Given the description of an element on the screen output the (x, y) to click on. 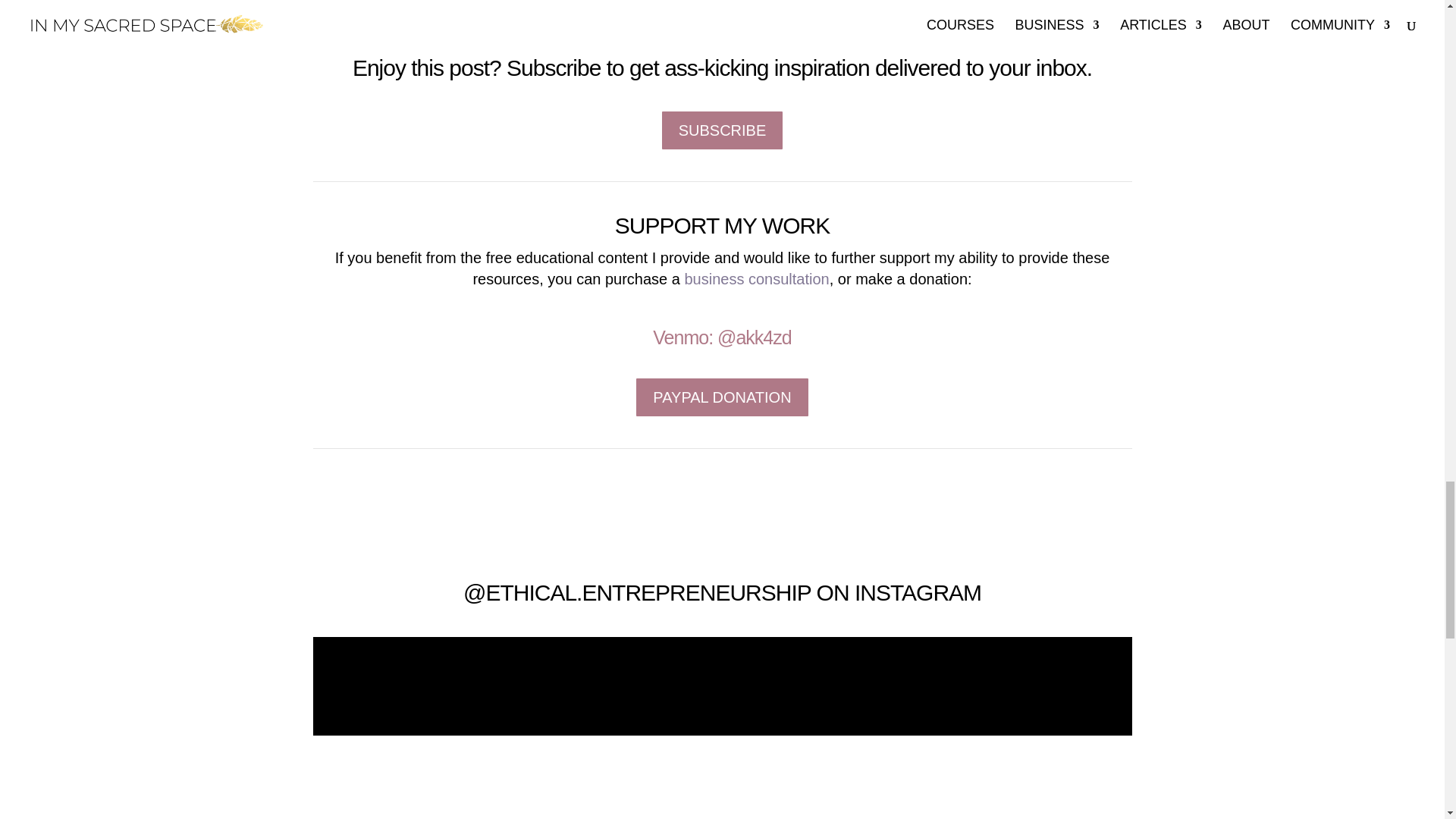
SUBSCRIBE (722, 130)
PAYPAL DONATION (722, 397)
business consultation (756, 279)
Follow on Instagram (729, 770)
